Given the description of an element on the screen output the (x, y) to click on. 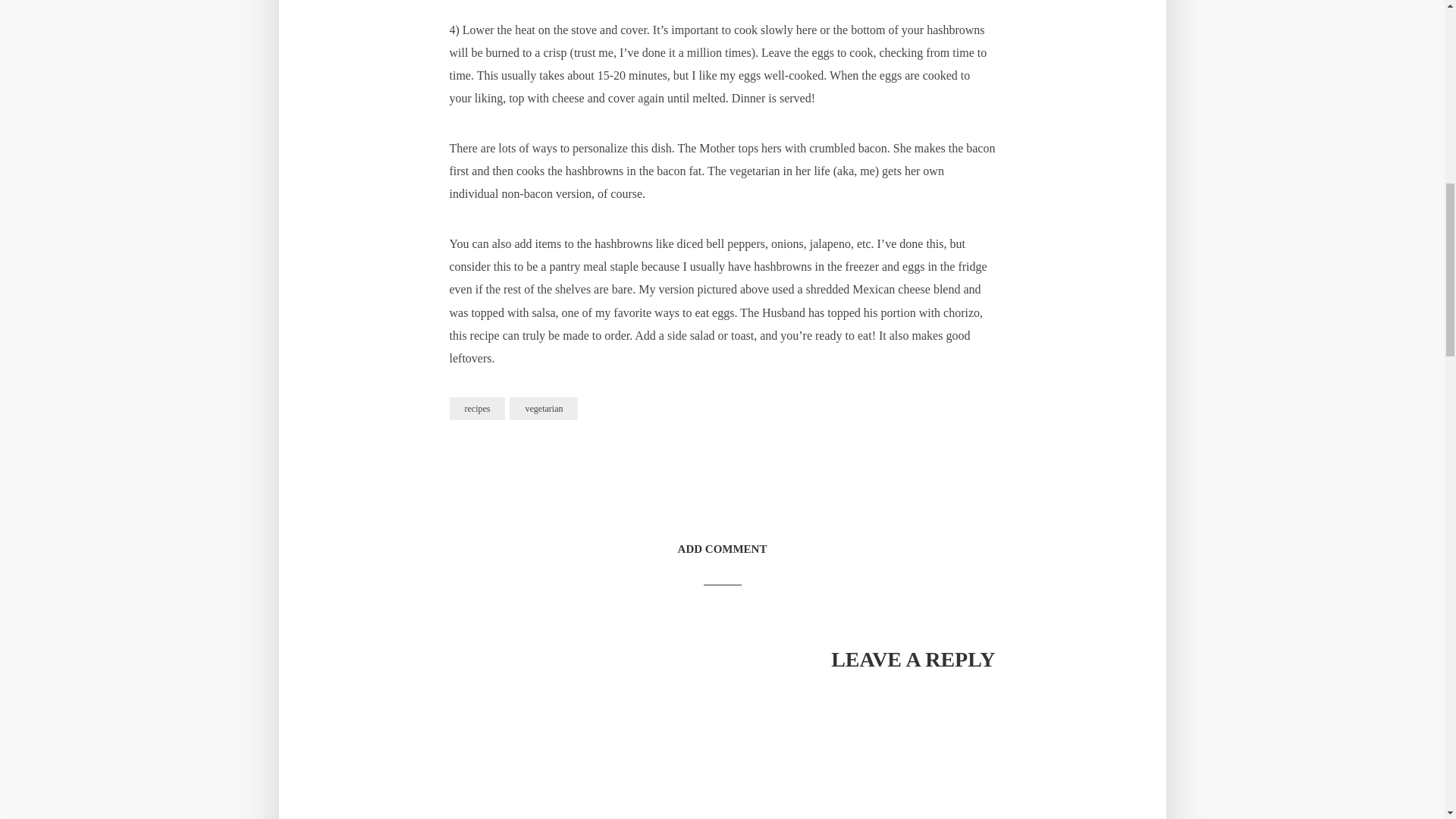
Comment Form (721, 753)
vegetarian (543, 408)
recipes (476, 408)
